Given the description of an element on the screen output the (x, y) to click on. 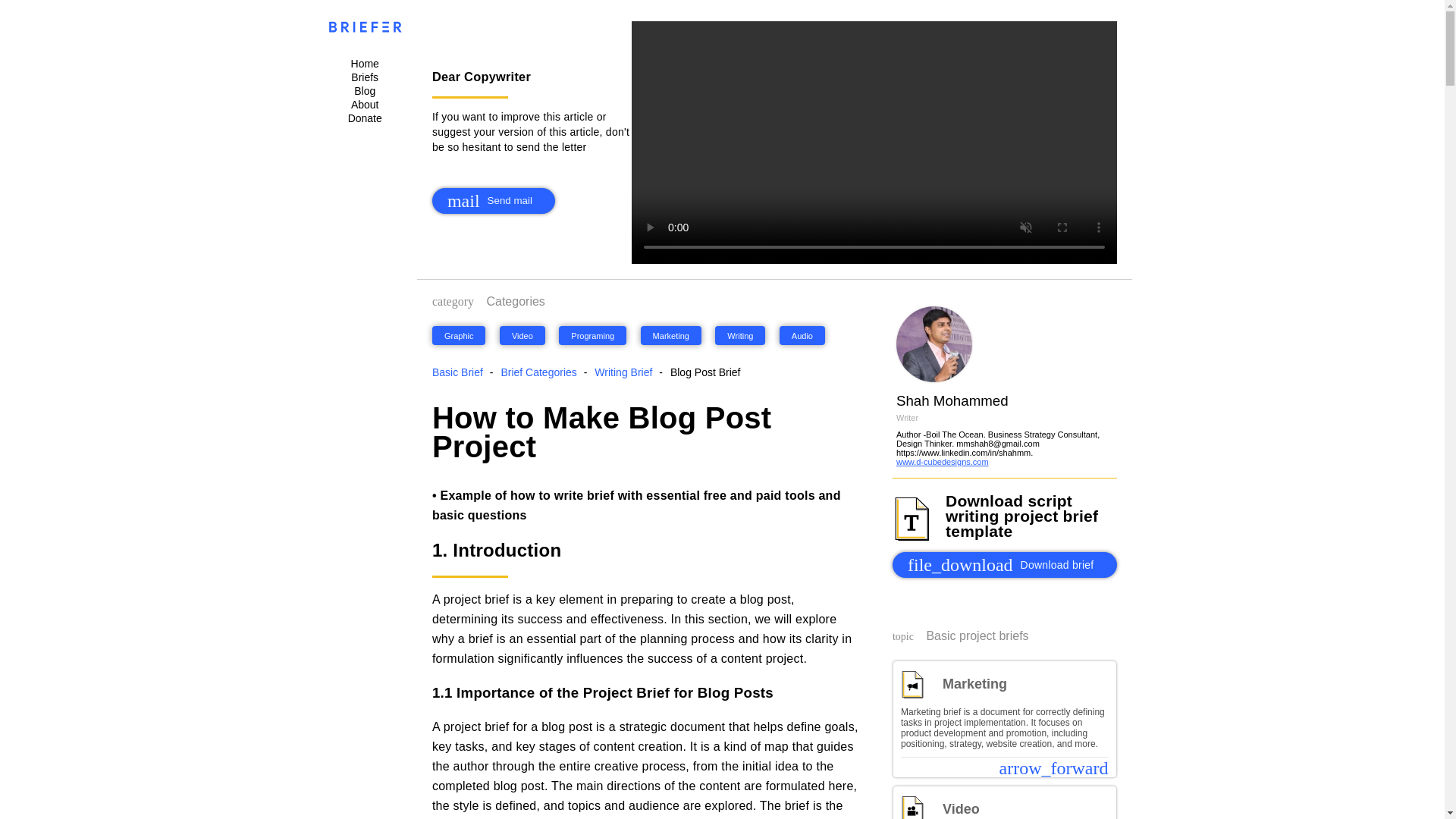
Blog (493, 200)
Writing Brief (364, 91)
Brief Categories (624, 372)
Marketing (539, 372)
Video (670, 334)
www.d-cubedesigns.com (521, 334)
Basic Brief (942, 461)
Programing (459, 372)
Donate (592, 334)
Home (364, 118)
download creative project brief (364, 63)
Audio (1004, 565)
About (801, 334)
Writing (364, 104)
